Given the description of an element on the screen output the (x, y) to click on. 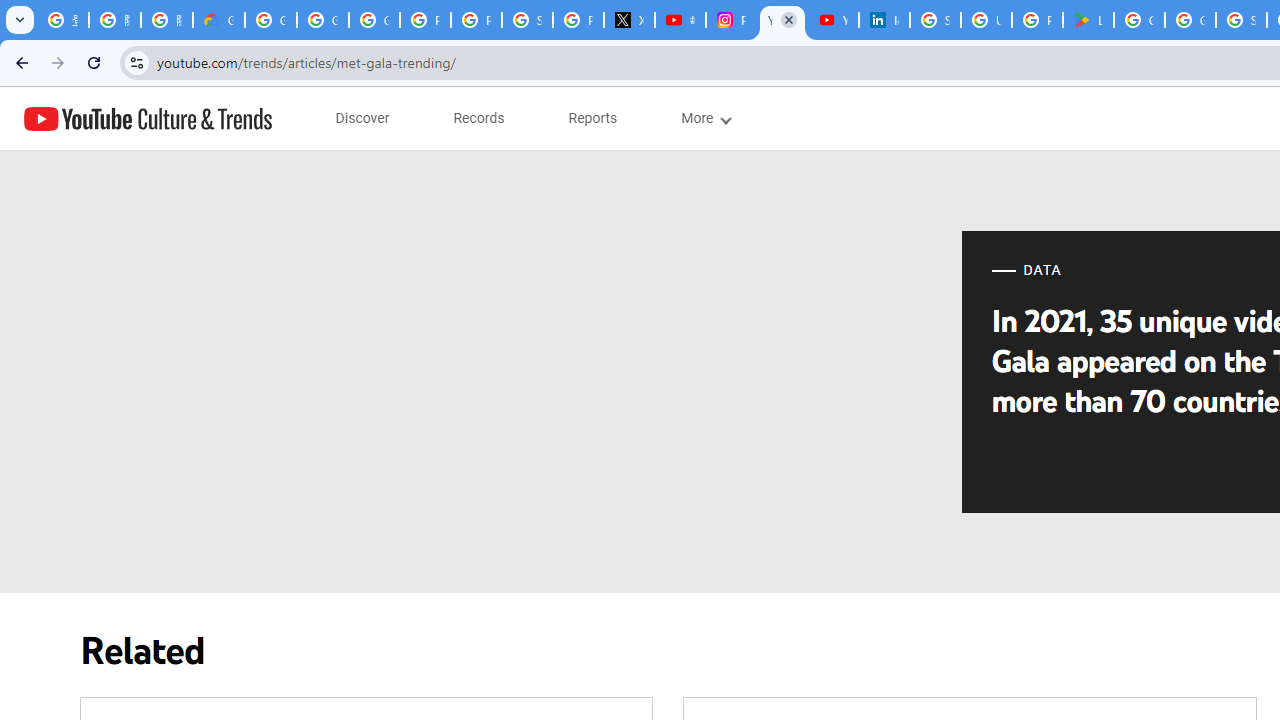
Sign in - Google Accounts (1241, 20)
subnav-More menupopup (704, 118)
Sign in - Google Accounts (935, 20)
subnav-More menupopup (704, 118)
JUMP TO CONTENT (209, 119)
